Given the description of an element on the screen output the (x, y) to click on. 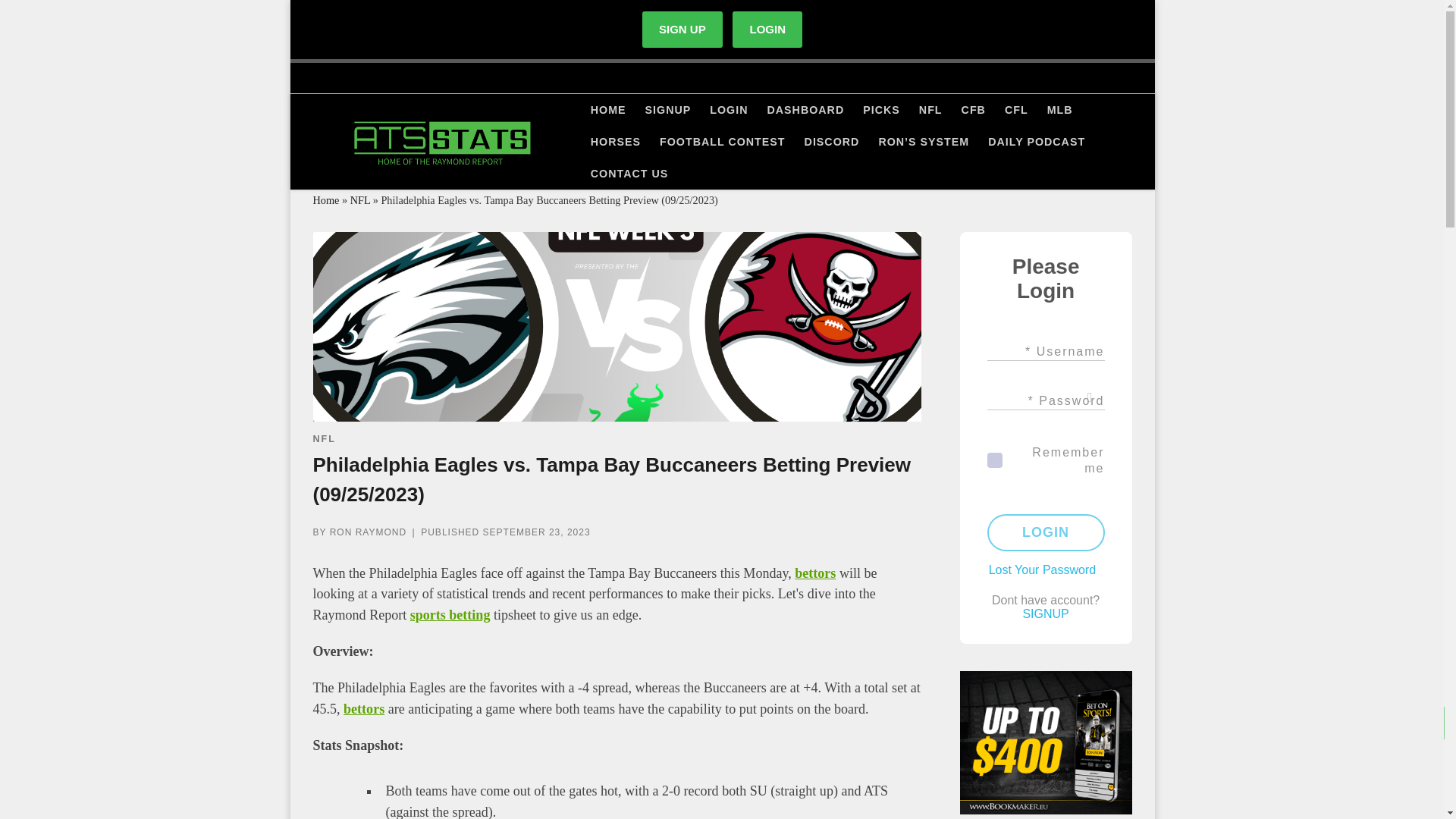
CONTACT US (629, 173)
View all posts in NFL (323, 438)
sports betting (450, 614)
MLB (1059, 110)
HOME (608, 110)
SIGNUP (667, 110)
PICKS (881, 110)
10:25 am (537, 532)
FOOTBALL CONTEST (722, 142)
View all posts by Ron Raymond (368, 532)
